Given the description of an element on the screen output the (x, y) to click on. 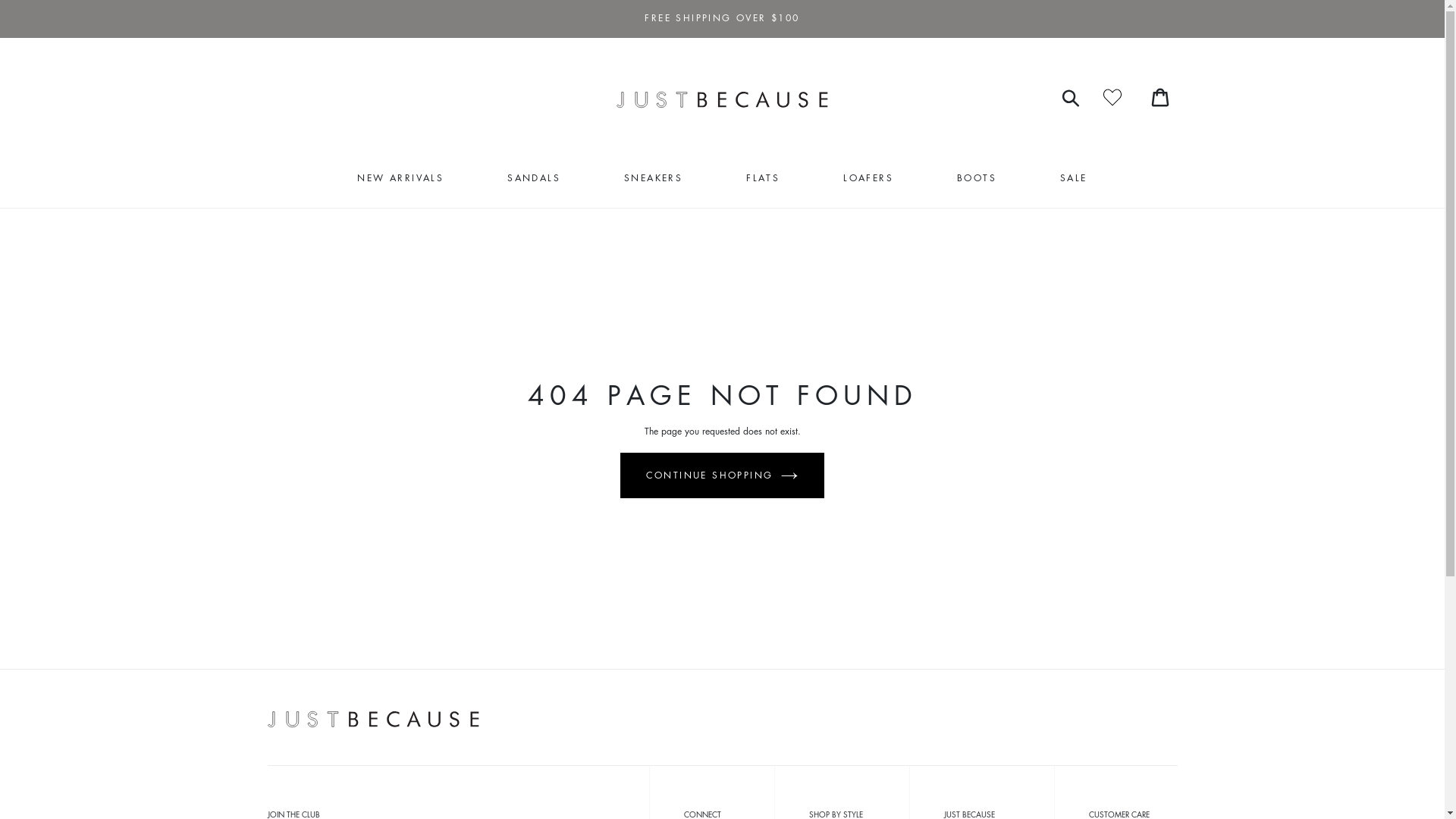
LOAFERS Element type: text (868, 178)
Cart Element type: text (1159, 97)
SALE Element type: text (1073, 178)
SNEAKERS Element type: text (653, 178)
SANDALS Element type: text (533, 178)
CONTINUE SHOPPING Element type: text (722, 475)
NEW ARRIVALS Element type: text (400, 178)
FLATS Element type: text (762, 178)
FREE SHIPPING OVER $100 Element type: text (722, 18)
Search Element type: text (1071, 96)
BOOTS Element type: text (976, 178)
